Given the description of an element on the screen output the (x, y) to click on. 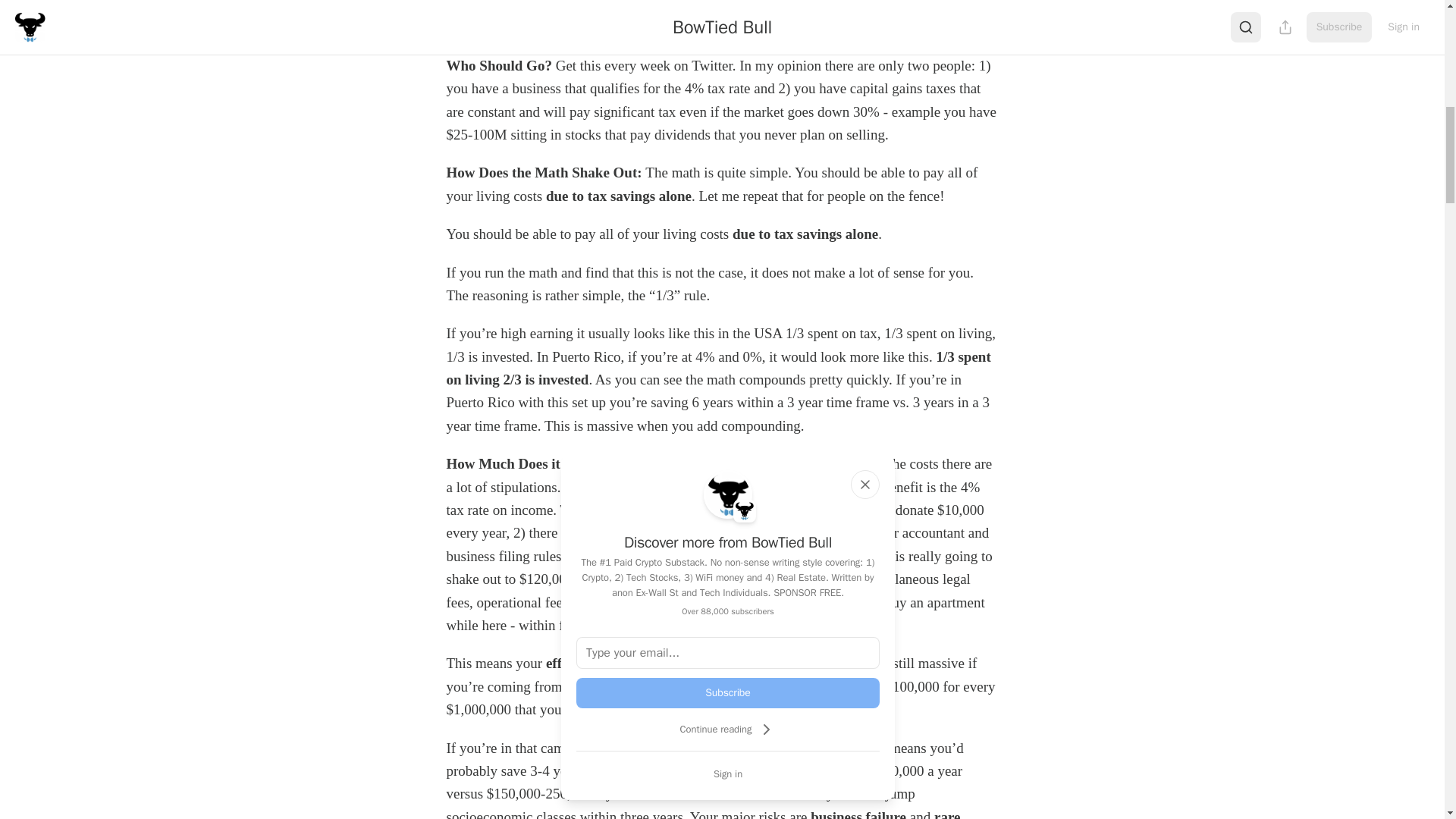
Subscribe (727, 693)
Sign in (727, 773)
